Given the description of an element on the screen output the (x, y) to click on. 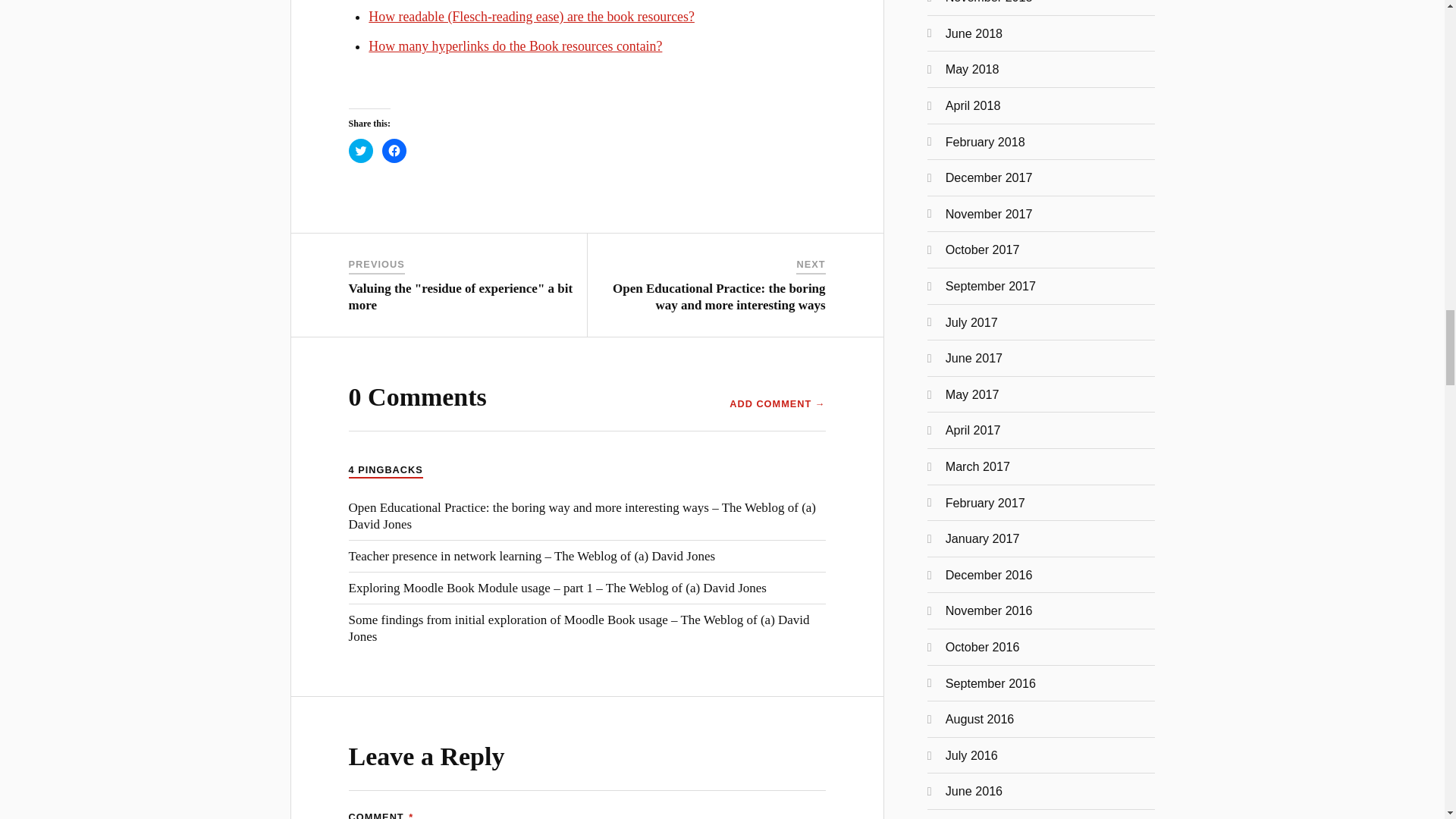
Click to share on Twitter (360, 150)
Click to share on Facebook (393, 150)
